Given the description of an element on the screen output the (x, y) to click on. 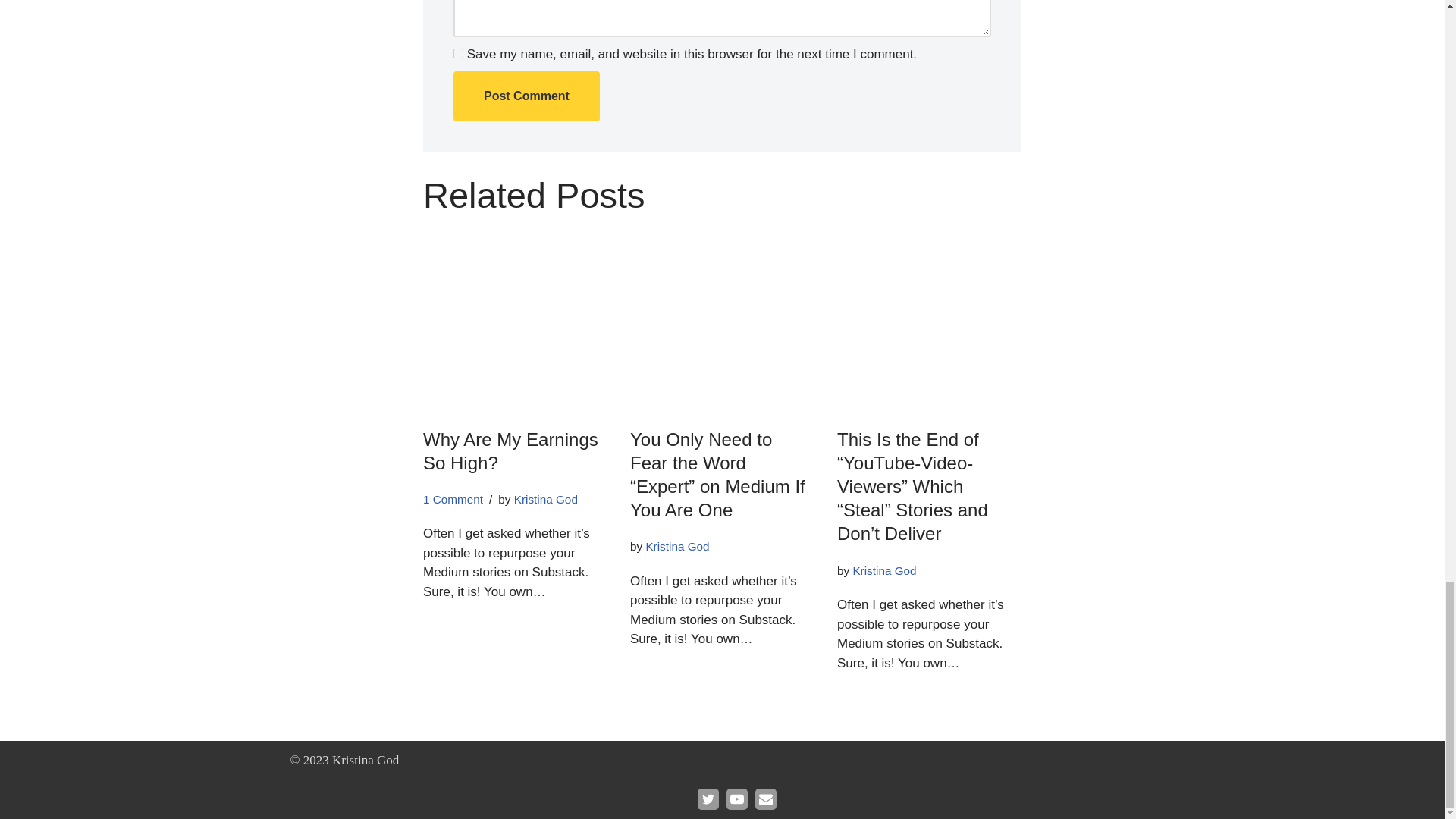
yes (457, 53)
Kristina God (545, 499)
Youtube (737, 798)
Posts by Kristina God (883, 570)
Posts by Kristina God (677, 545)
Substack (765, 798)
Kristina God (883, 570)
Why Are My Earnings So High? (510, 451)
Post Comment (525, 96)
Kristina God (677, 545)
1 Comment (453, 499)
Post Comment (525, 96)
Twitter (708, 798)
Posts by Kristina God (545, 499)
